Given the description of an element on the screen output the (x, y) to click on. 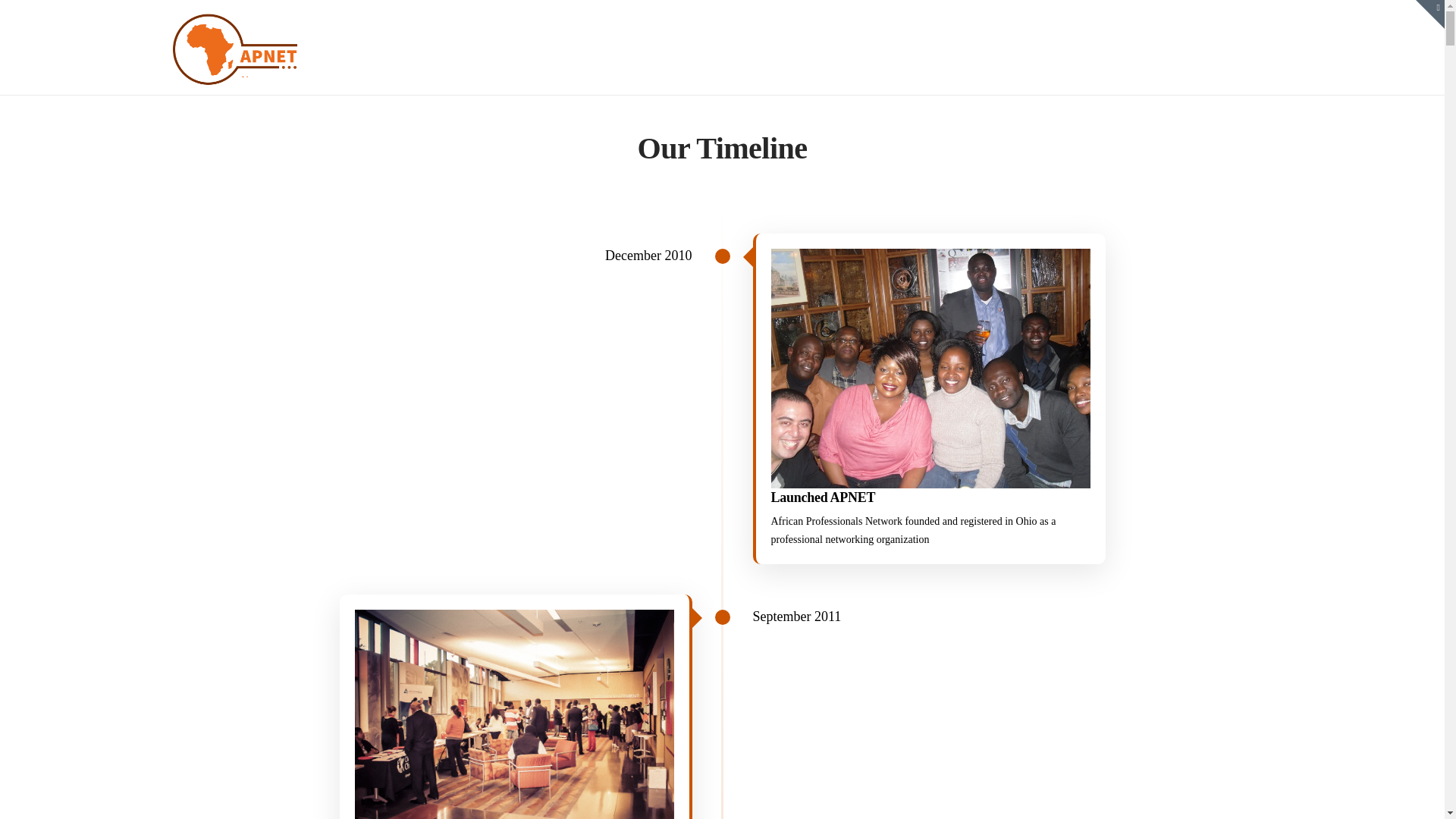
HOME (811, 33)
PARTNERSHIPS (1129, 33)
DIRECTORY (1254, 33)
MEMBERSHIP (914, 33)
WORK (1017, 33)
